Given the description of an element on the screen output the (x, y) to click on. 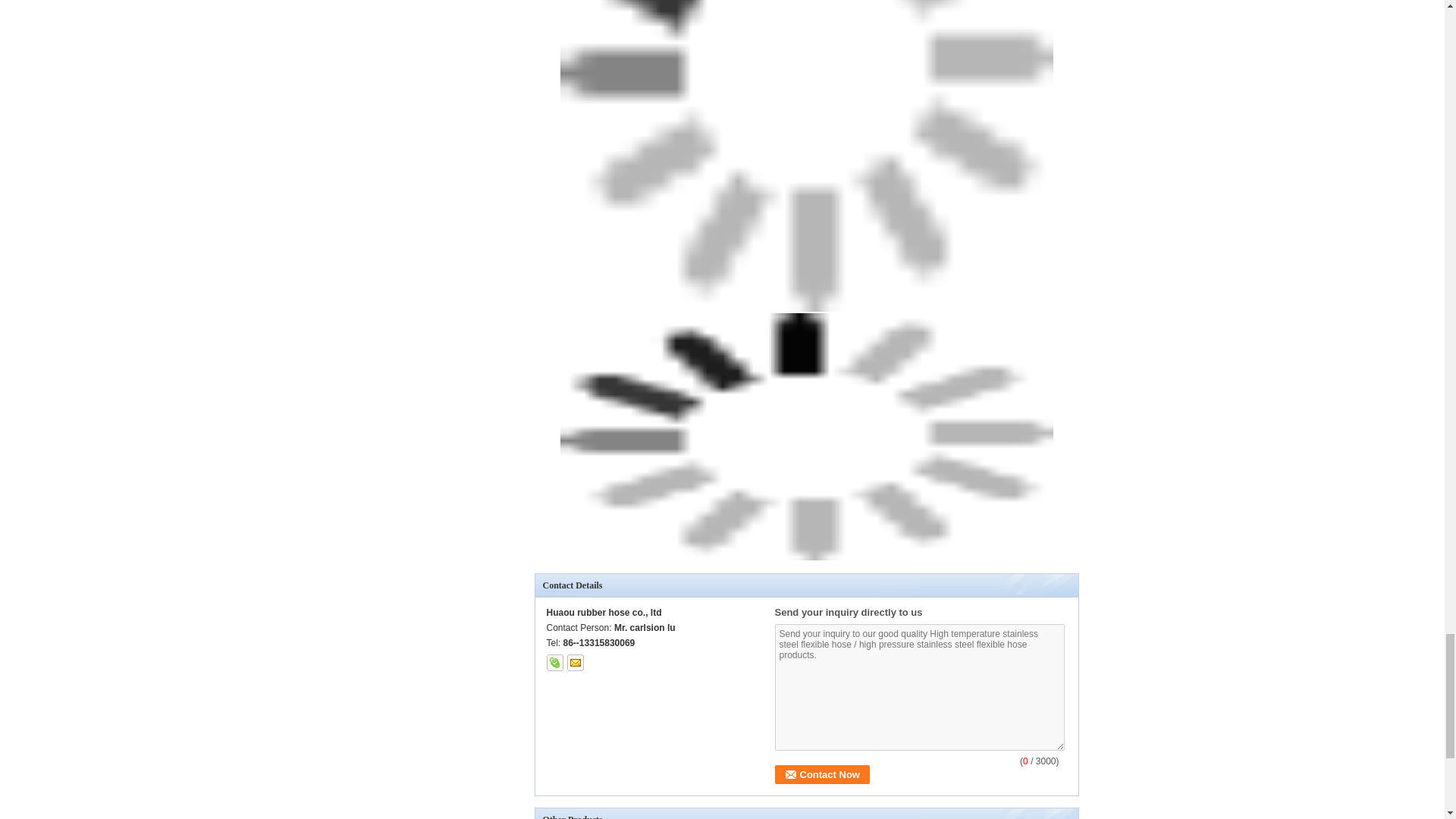
Contact Now (821, 773)
